Given the description of an element on the screen output the (x, y) to click on. 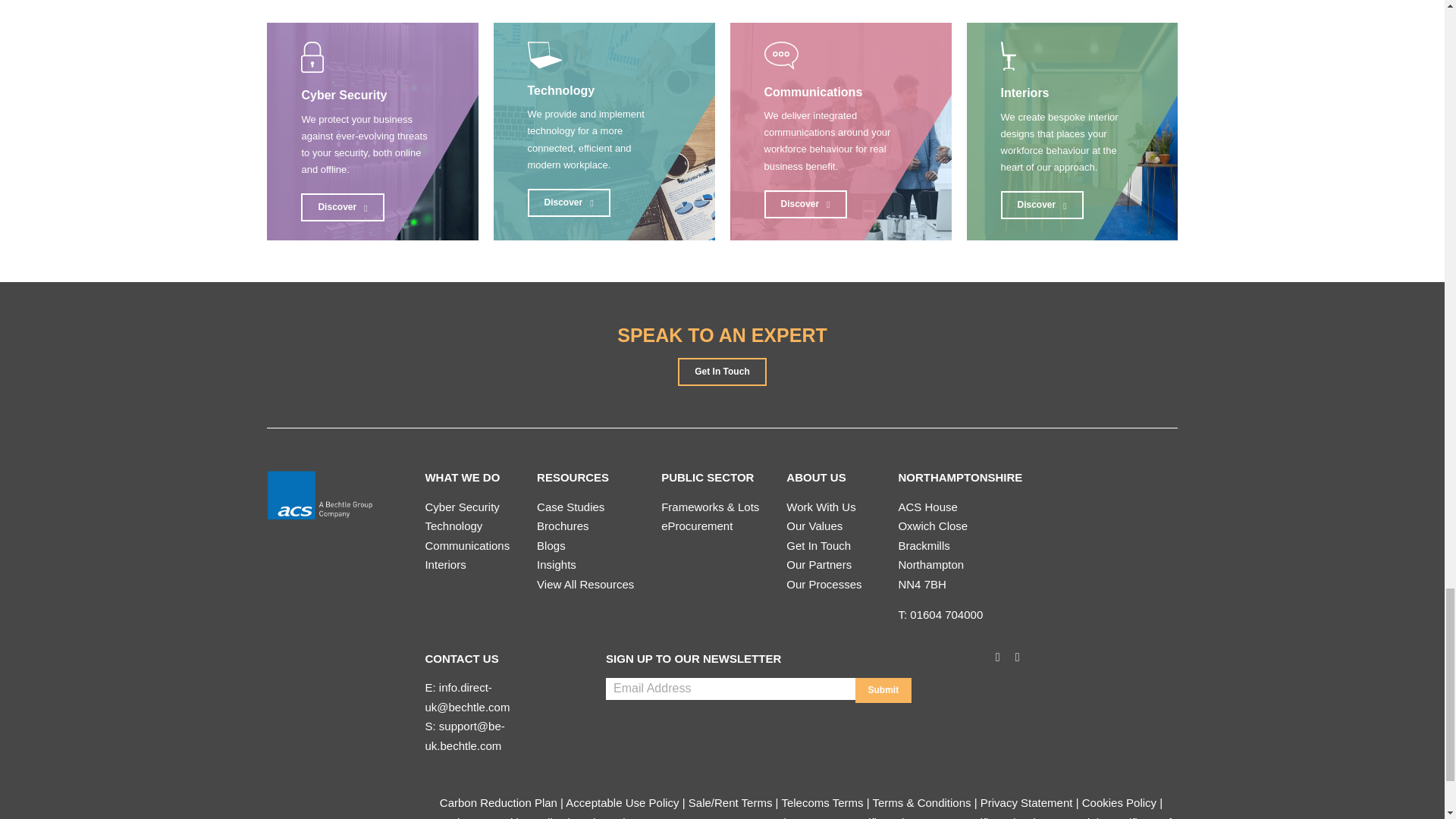
Submit (884, 690)
